Given the description of an element on the screen output the (x, y) to click on. 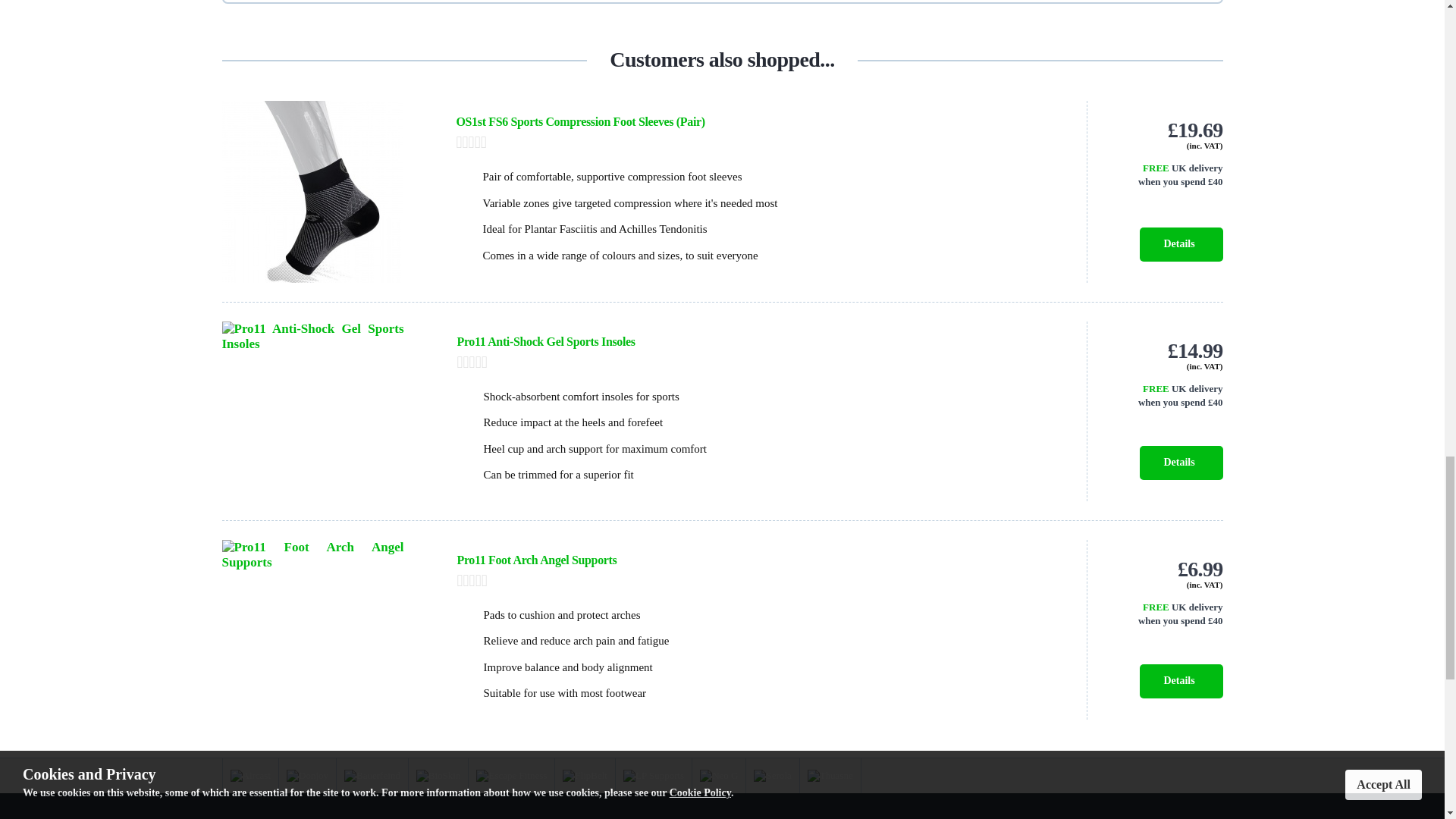
Full product details (1180, 681)
Click for details (1164, 175)
BioSkin (438, 775)
Click for details (1164, 396)
Full product details (1180, 462)
Pro11 Anti-Shock Gel Sports Insoles (545, 341)
Click for details (1164, 614)
Pro11 Foot Arch Angel Supports (536, 559)
LP Supports (653, 775)
Details (1180, 462)
